Given the description of an element on the screen output the (x, y) to click on. 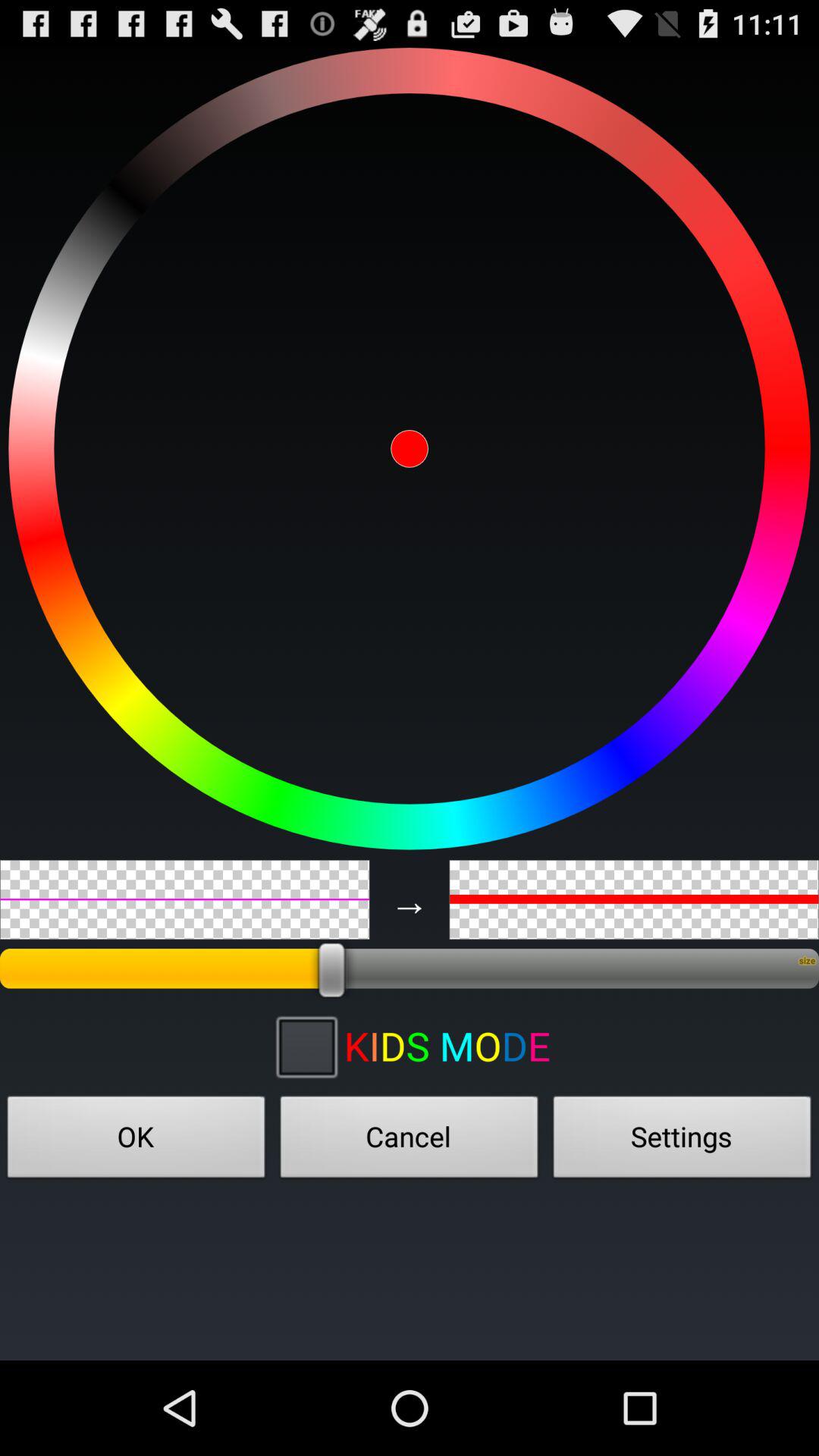
choose the app to the left of kids mode app (306, 1045)
